Given the description of an element on the screen output the (x, y) to click on. 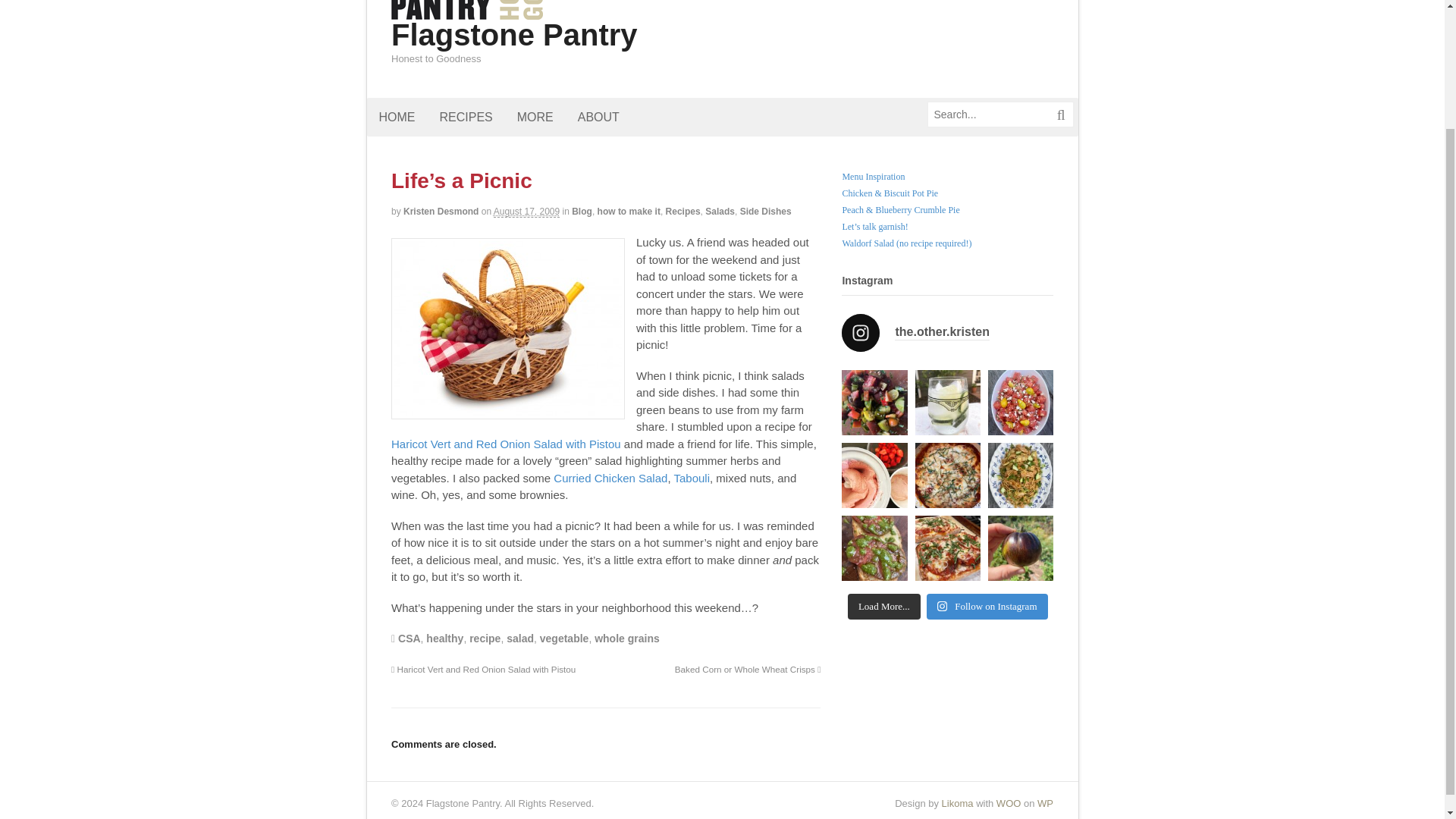
View all items in Blog (582, 211)
Menu Inspiration (872, 176)
whole grains (626, 638)
RECIPES (466, 116)
View all items in how to make it (628, 211)
San Francisco WordPress Design (958, 803)
Tabouli (691, 477)
Haricot Vert and Red Onion Salad with Pistou (506, 443)
Haricot Vert and Red Onion Salad with Pistou (506, 443)
healthy (444, 638)
